Given the description of an element on the screen output the (x, y) to click on. 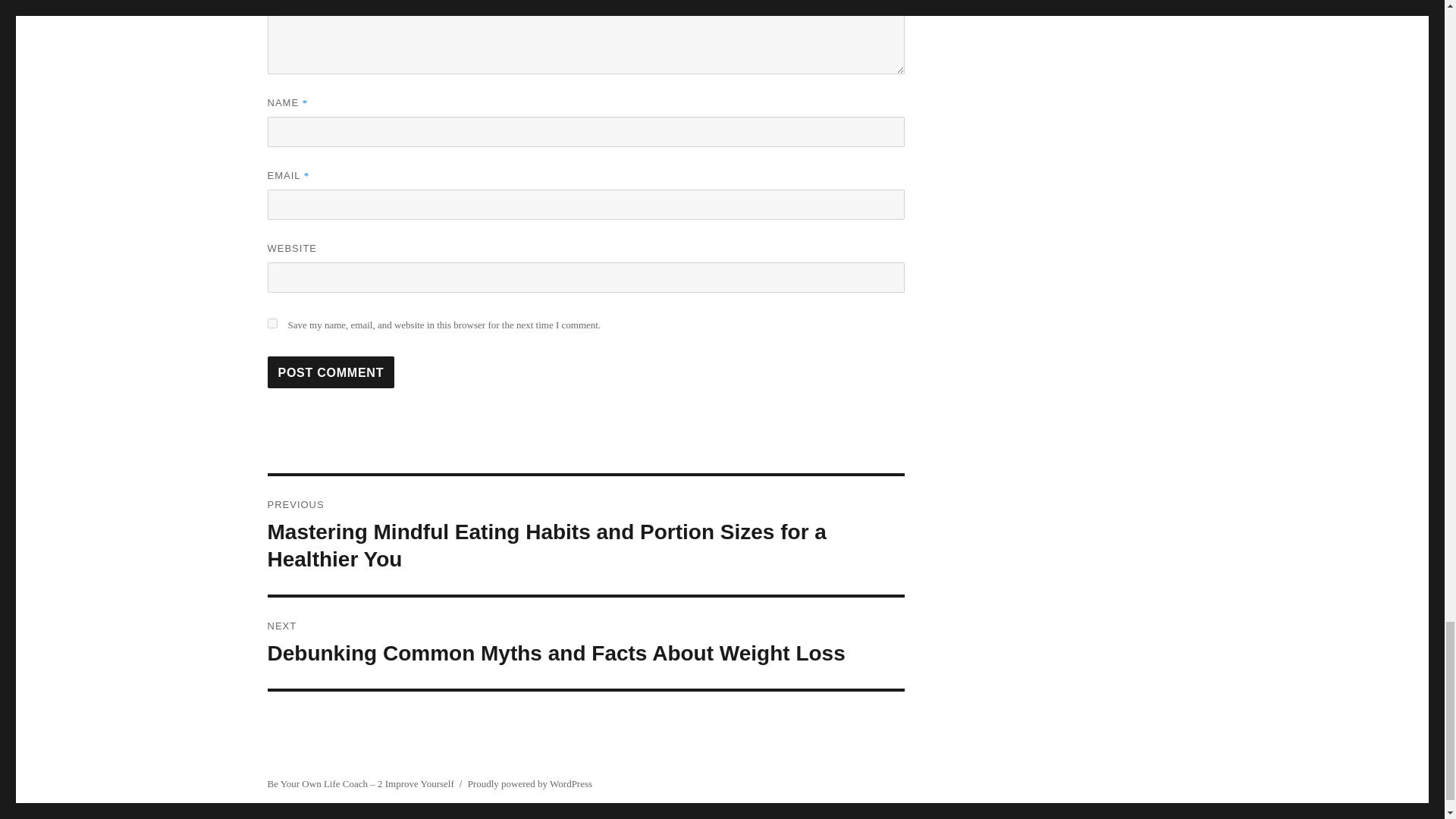
Post Comment (330, 372)
Post Comment (330, 372)
yes (271, 323)
